Given the description of an element on the screen output the (x, y) to click on. 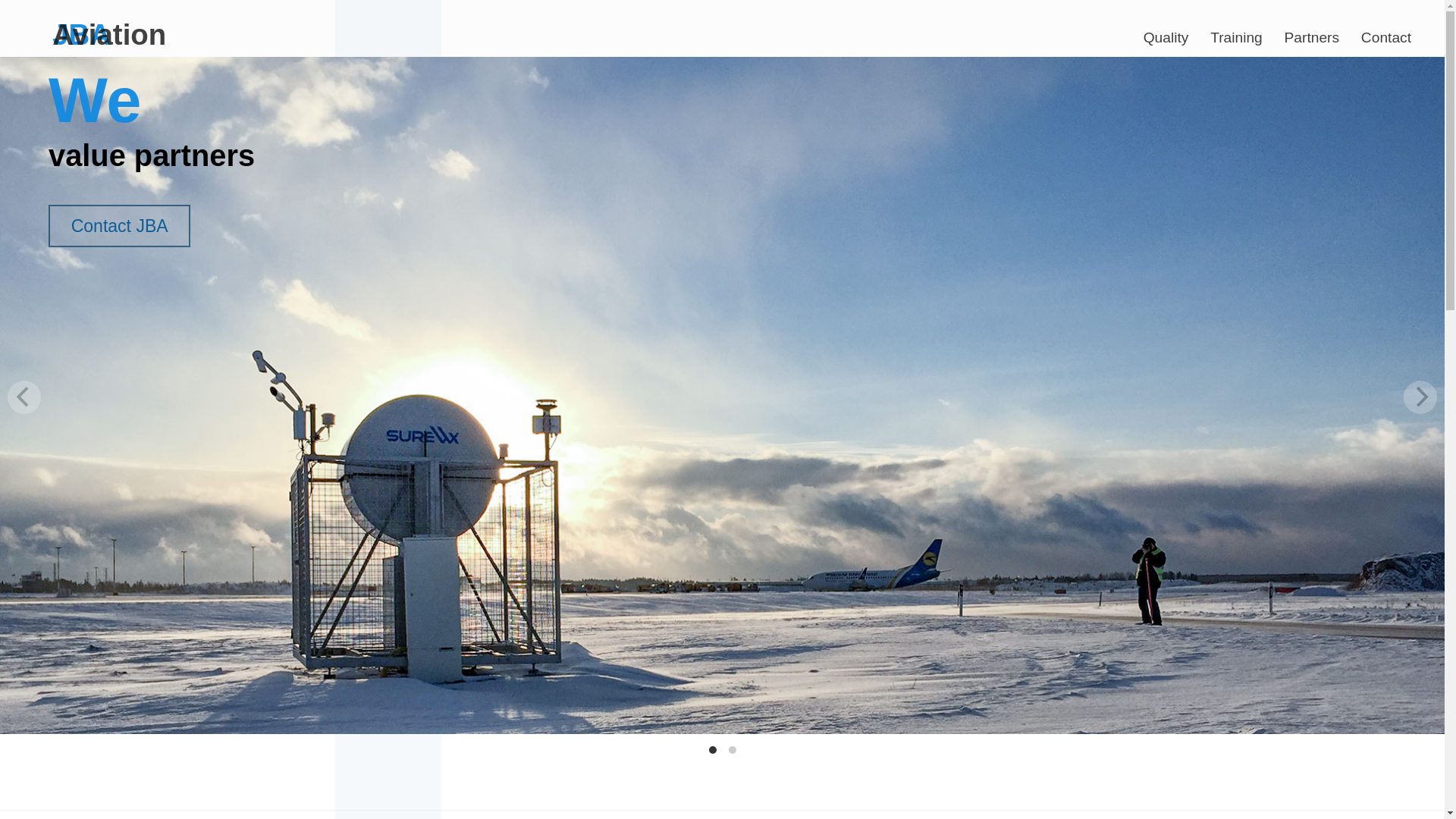
Partners (1311, 32)
Quality (1165, 32)
Contact JBA (119, 226)
Contact (1386, 32)
Training (1236, 32)
JBA Aviation (132, 22)
